Given the description of an element on the screen output the (x, y) to click on. 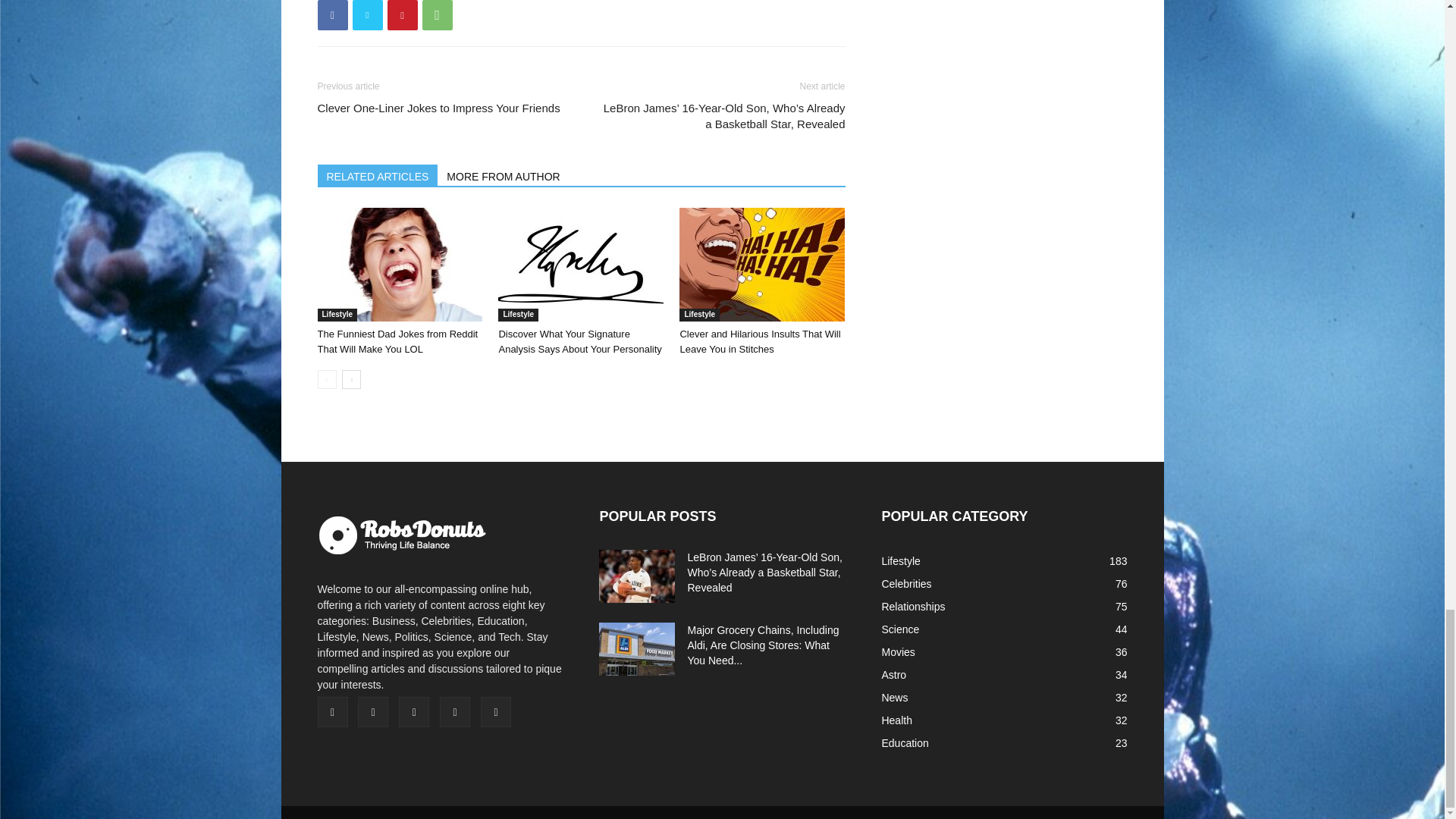
Facebook (332, 15)
